Given the description of an element on the screen output the (x, y) to click on. 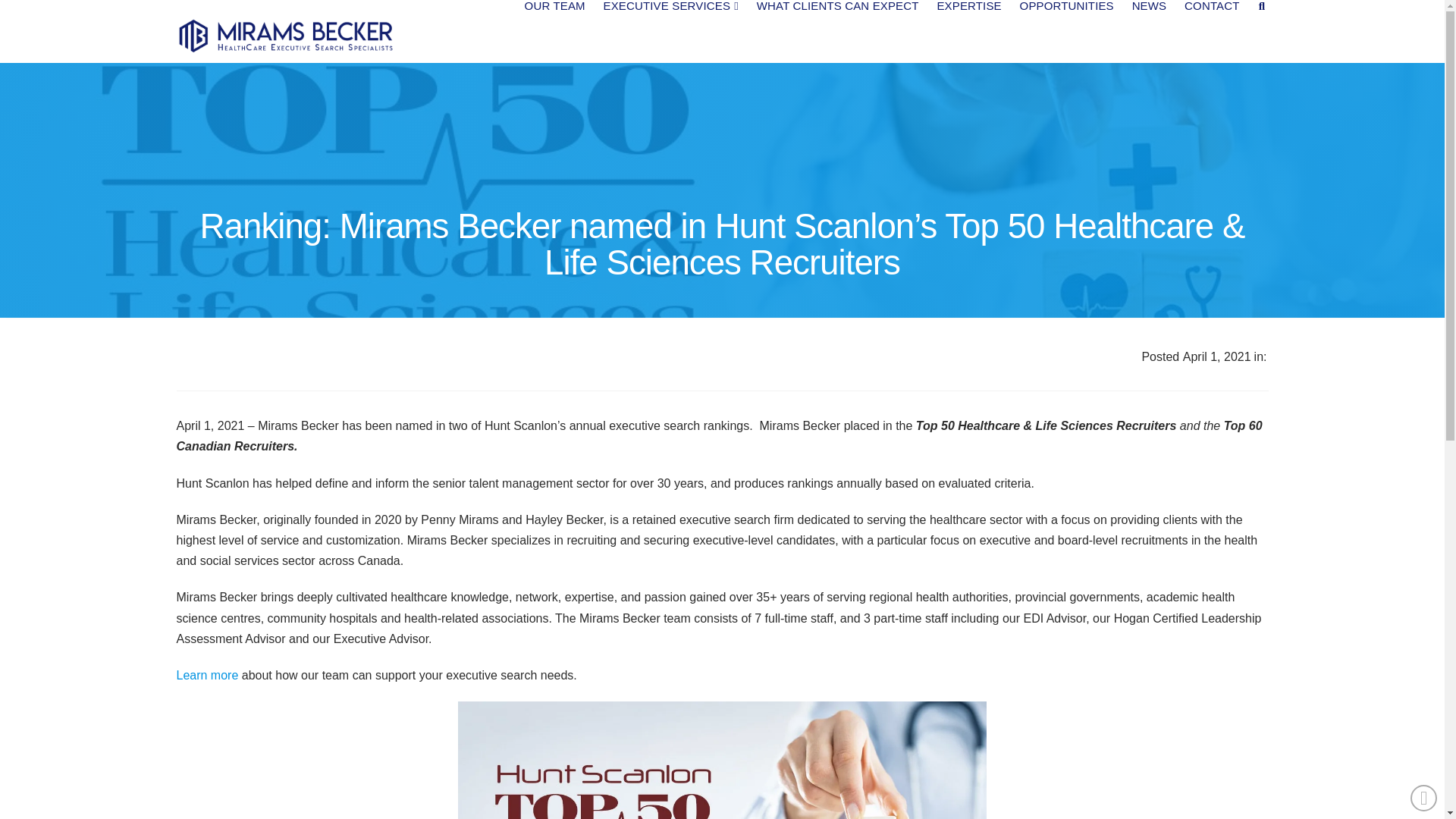
CONTACT (1212, 30)
Learn more (207, 675)
EXECUTIVE SERVICES (671, 30)
EXPERTISE (968, 30)
WHAT CLIENTS CAN EXPECT (837, 30)
Back to Top (1423, 797)
NEWS (1149, 30)
OPPORTUNITIES (1066, 30)
OUR TEAM (554, 30)
